Given the description of an element on the screen output the (x, y) to click on. 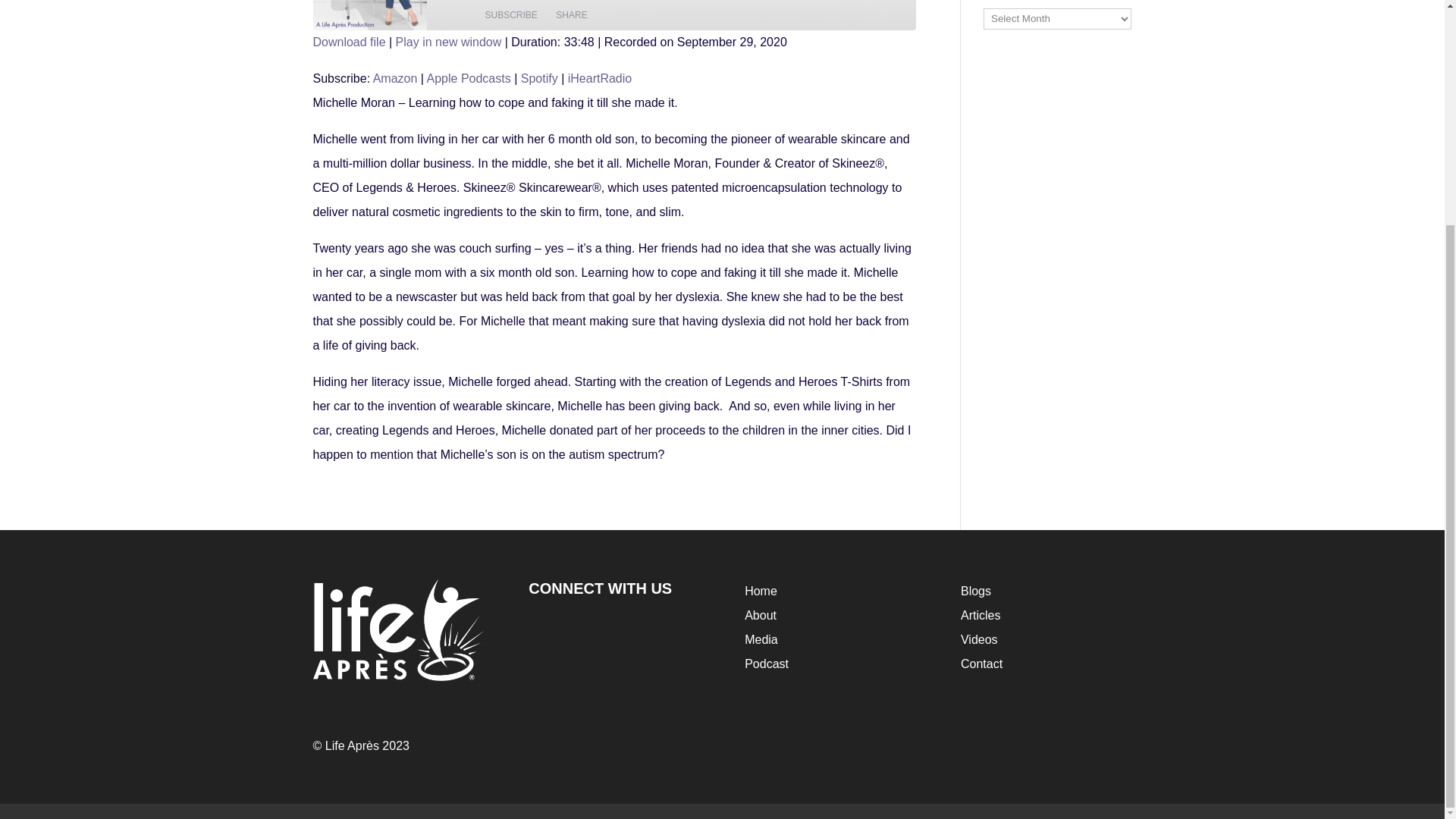
SUBSCRIBE (510, 14)
Amazon (394, 78)
Download file (349, 42)
Subscribe (510, 14)
Play in new window (449, 42)
SHARE (571, 14)
Spotify (539, 78)
Share (571, 14)
Apple Podcasts (468, 78)
